Given the description of an element on the screen output the (x, y) to click on. 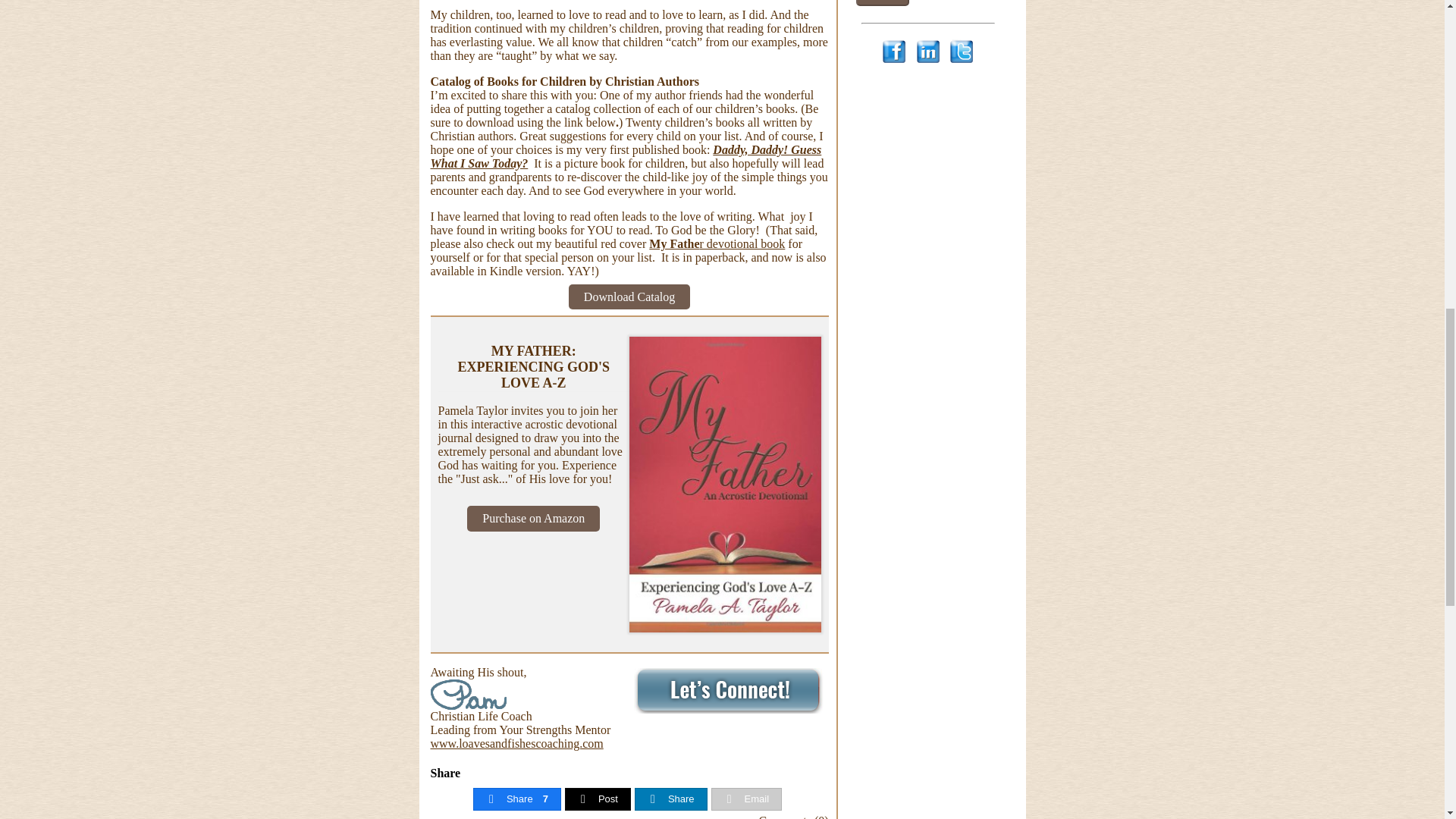
Email (746, 798)
Share7 (517, 798)
Search (882, 2)
www.loavesandfishescoaching.com (517, 743)
Post (598, 798)
My Father devotional book (716, 242)
Download Catalog (629, 295)
Share (670, 798)
Purchase on Amazon (533, 517)
Daddy, Daddy! Guess What I Saw Today? (626, 155)
Search (882, 2)
